Given the description of an element on the screen output the (x, y) to click on. 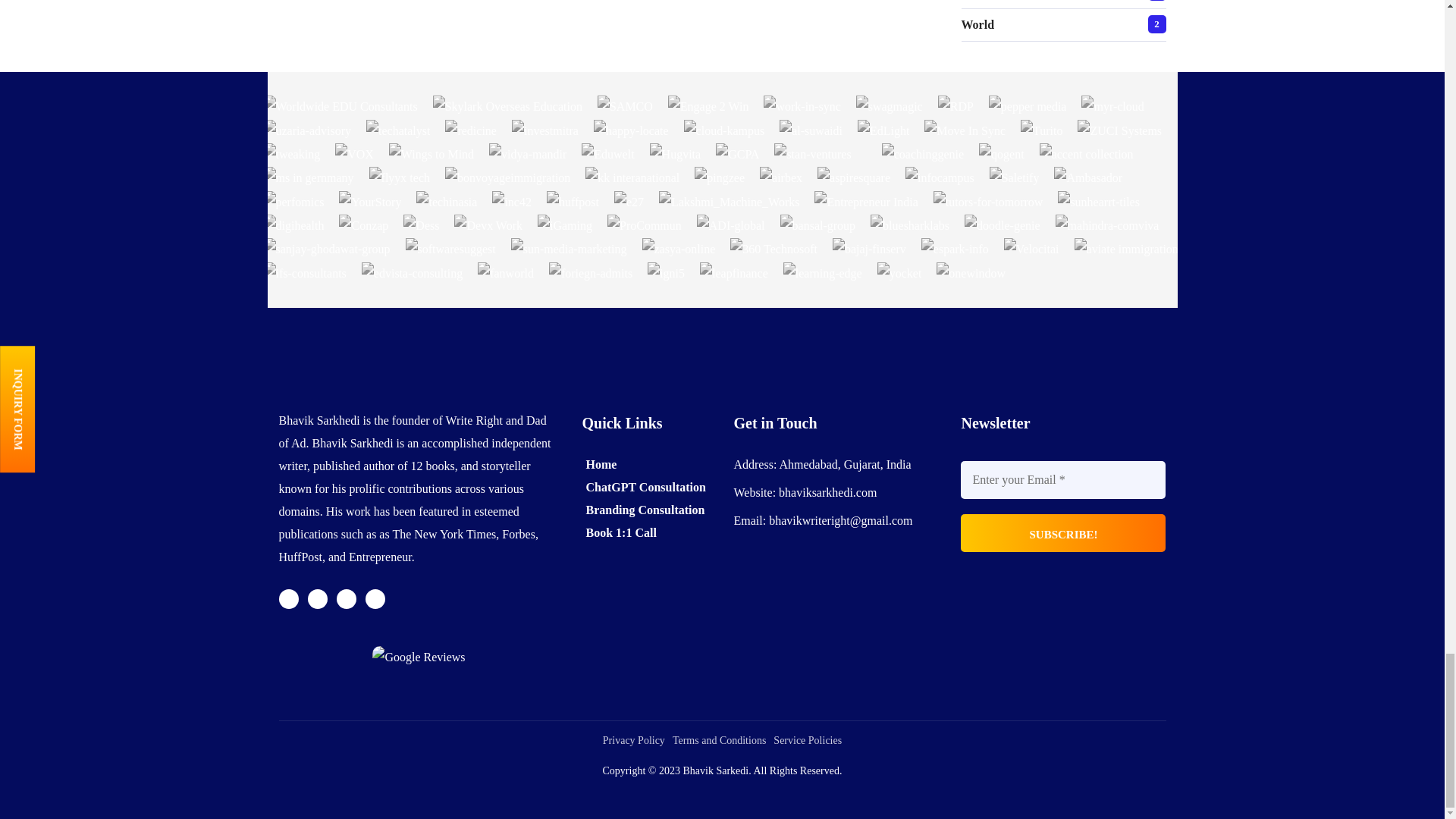
Enter your Email (1063, 479)
Twitter (288, 598)
Instagram (346, 598)
Facebook (317, 598)
Linkedin (375, 598)
Subscribe! (1063, 533)
